Given the description of an element on the screen output the (x, y) to click on. 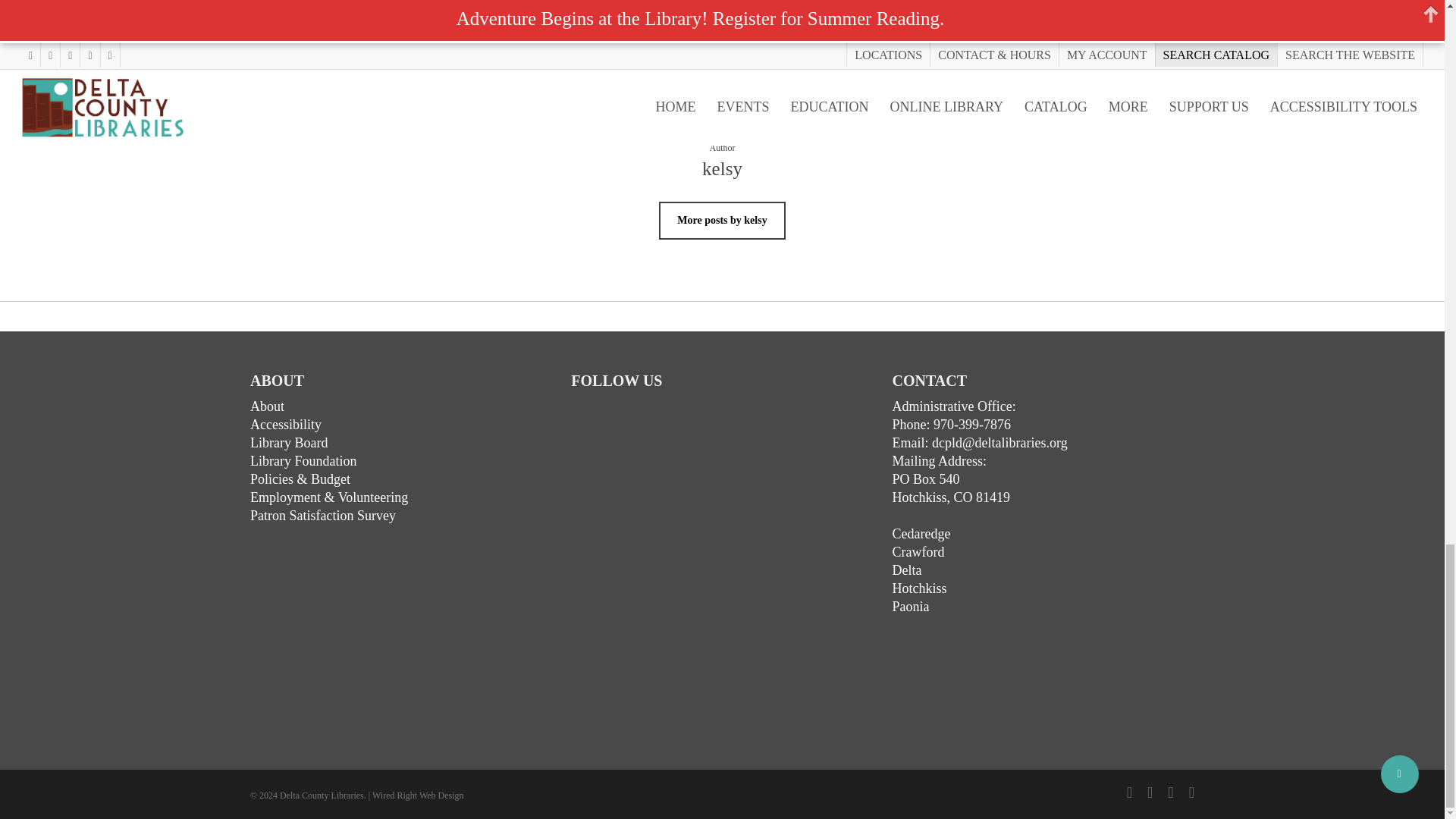
Facebook Posts (683, 549)
